Given the description of an element on the screen output the (x, y) to click on. 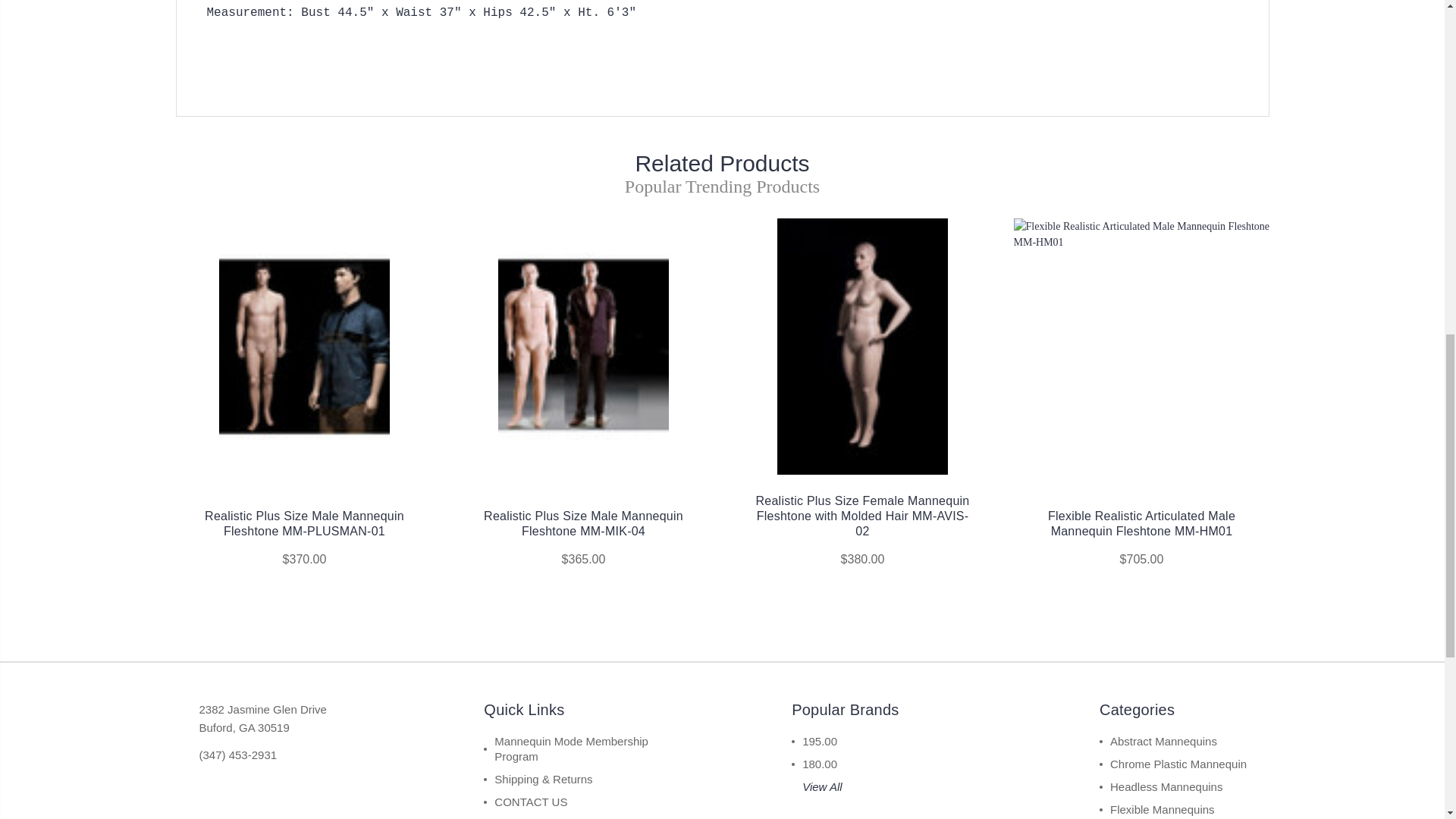
Realistic Plus Size Male Mannequin Fleshtone MM-PLUSMAN-01 (304, 346)
Realistic Plus Size Male Mannequin Fleshtone MM-MIK-04  (582, 346)
